Given the description of an element on the screen output the (x, y) to click on. 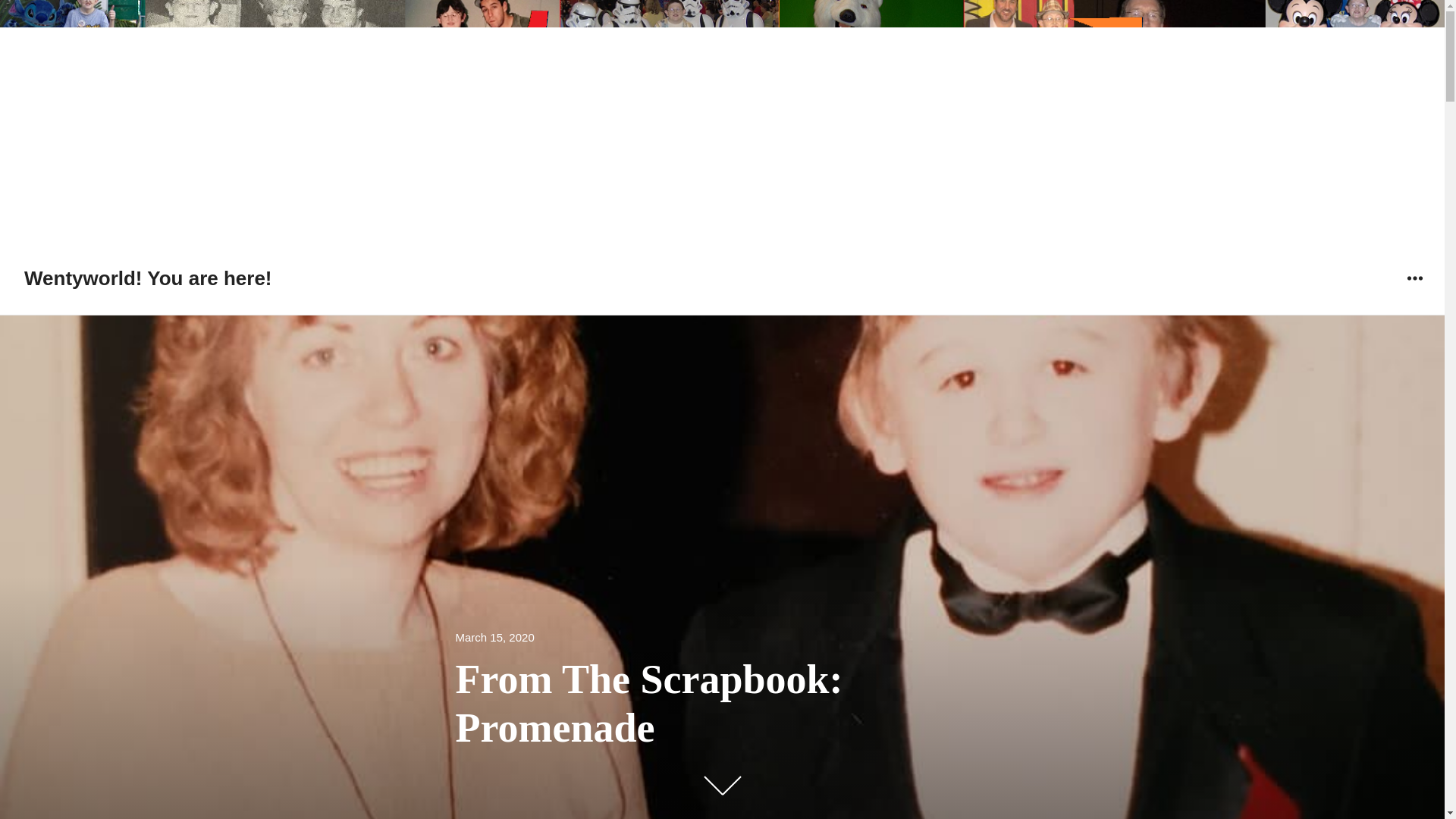
March 15, 2020 (494, 639)
Wentyworld! You are here! (148, 277)
Scroll down to see more content (721, 787)
Scroll down to see more content (721, 785)
WIDGETS (1414, 278)
Scroll down to see more content (721, 785)
